Given the description of an element on the screen output the (x, y) to click on. 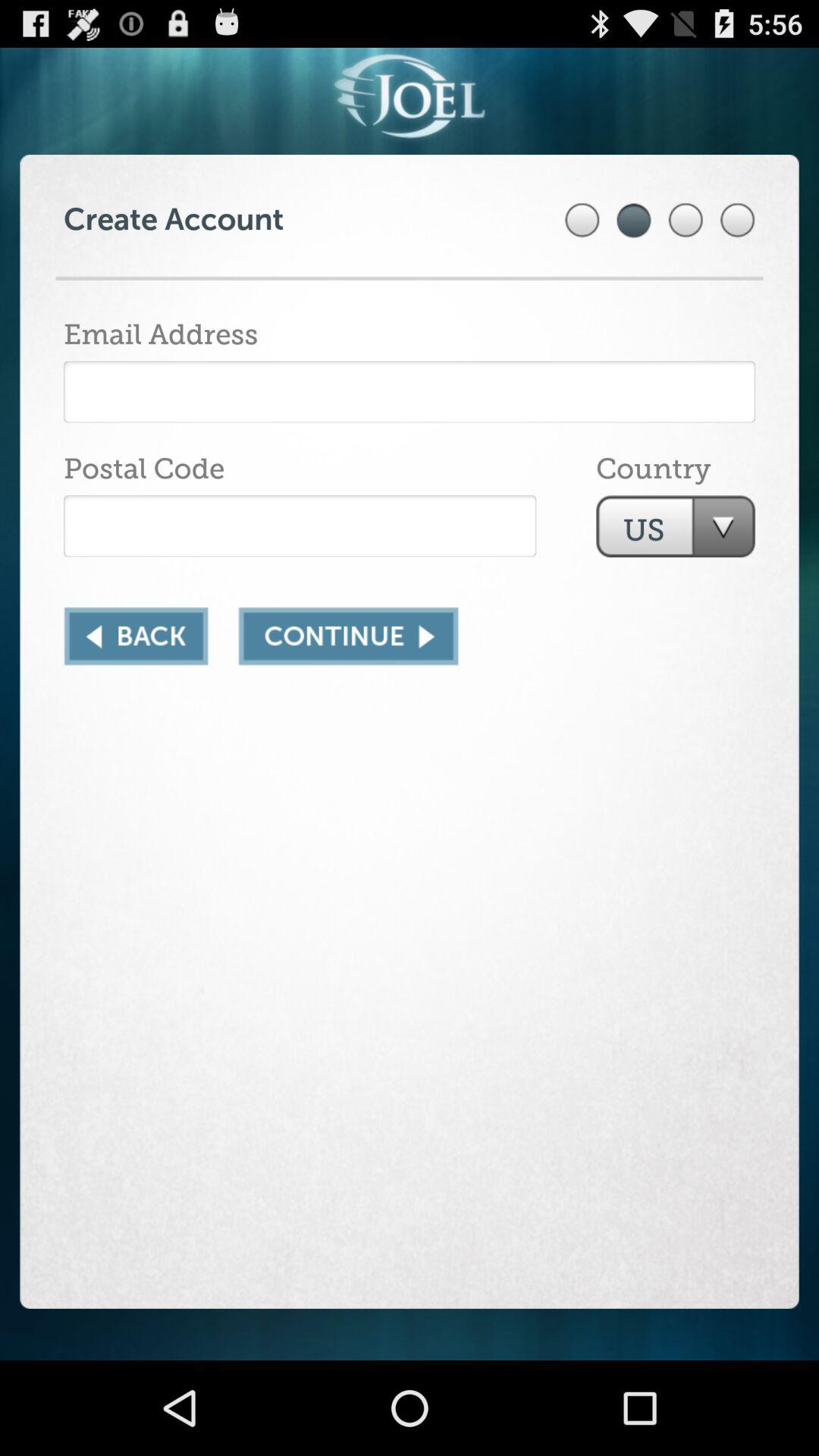
go back (135, 636)
